Given the description of an element on the screen output the (x, y) to click on. 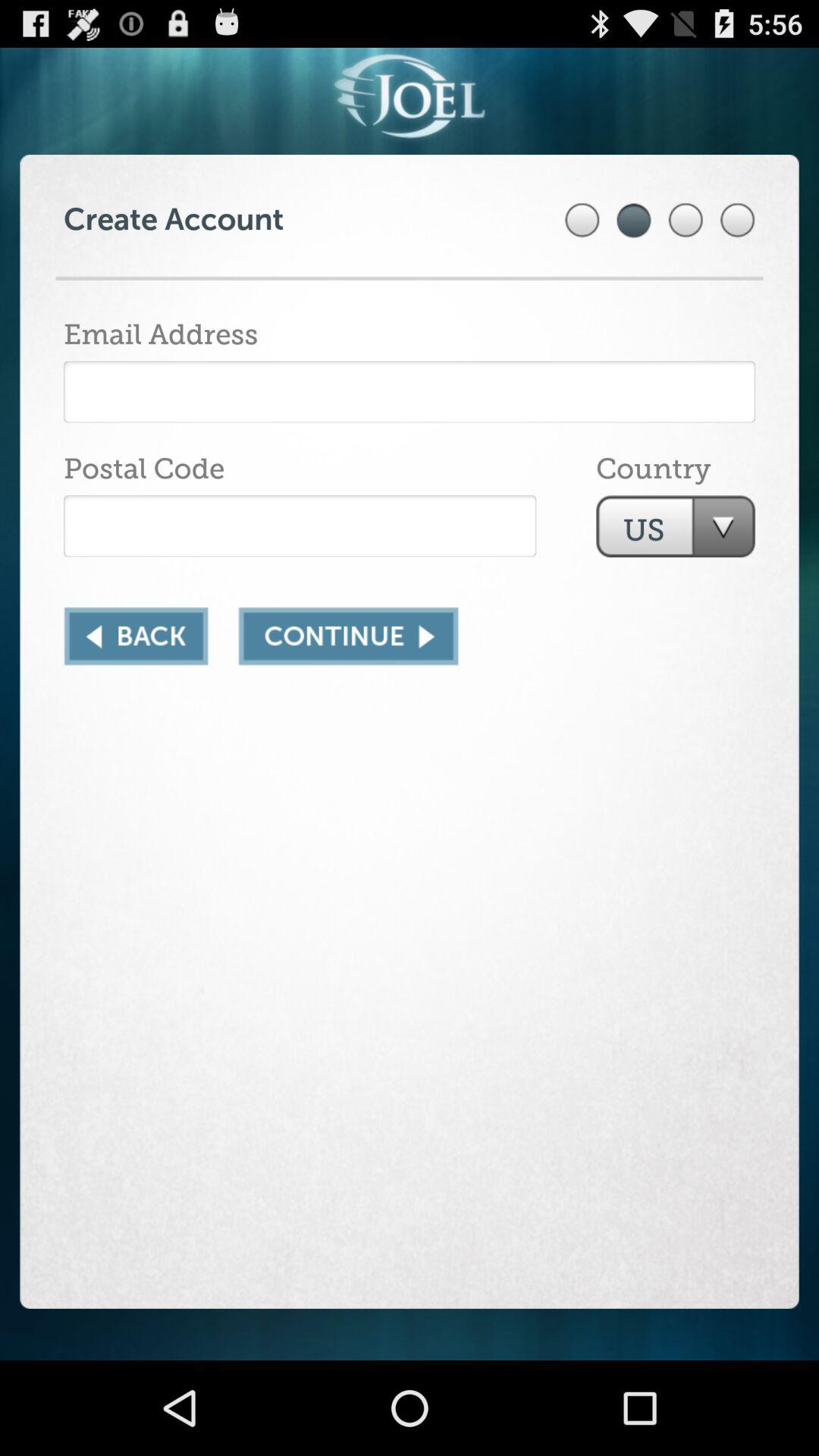
go back (135, 636)
